Given the description of an element on the screen output the (x, y) to click on. 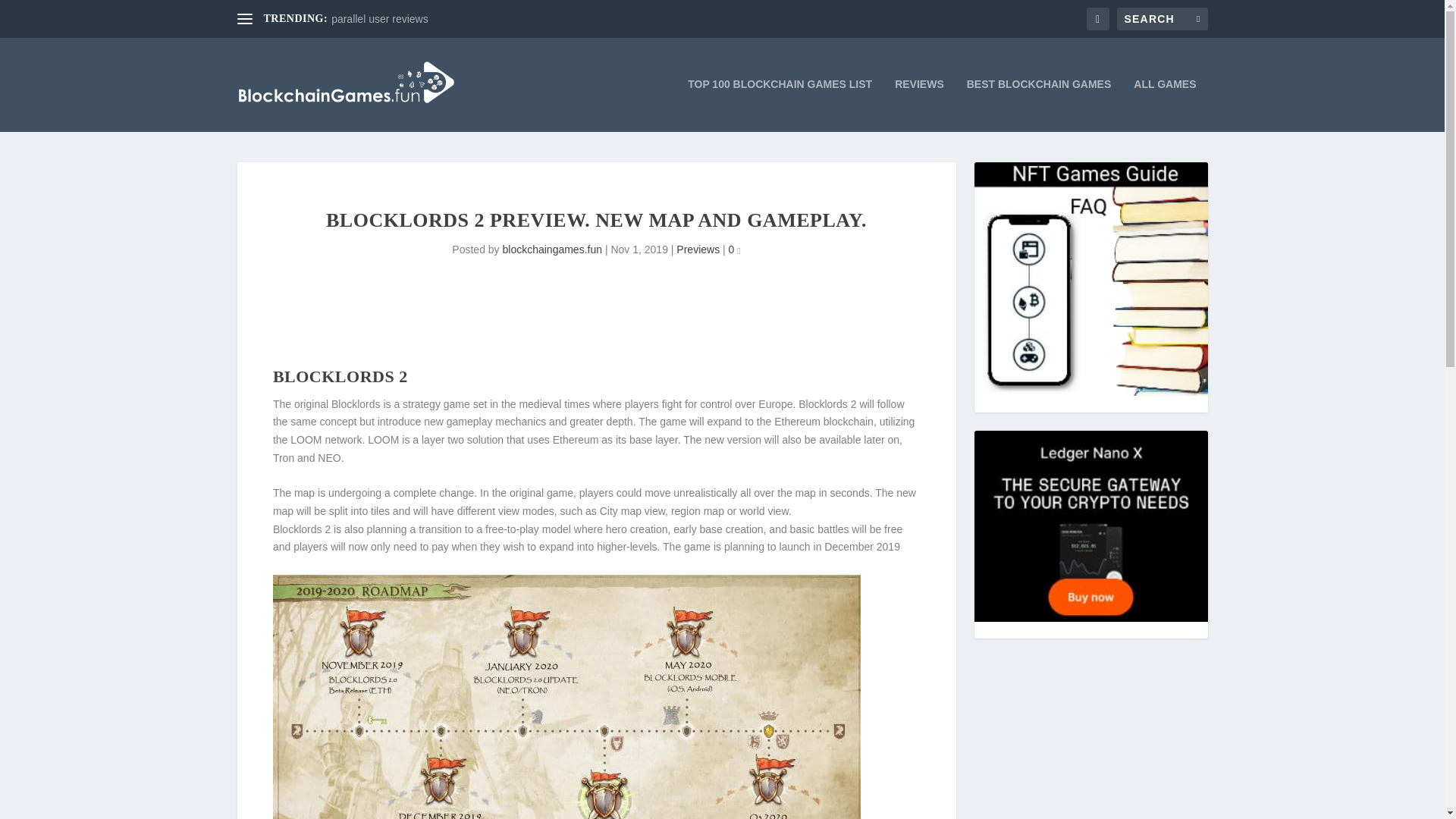
parallel user reviews (379, 19)
original Blocklords (337, 403)
TOP 100 BLOCKCHAIN GAMES LIST (779, 104)
ALL GAMES (1164, 104)
BEST BLOCKCHAIN GAMES (1039, 104)
Search for: (1161, 18)
LOOM (305, 439)
REVIEWS (919, 104)
Previews (698, 249)
0 (735, 249)
Posts by blockchaingames.fun (552, 249)
blockchaingames.fun (552, 249)
